Given the description of an element on the screen output the (x, y) to click on. 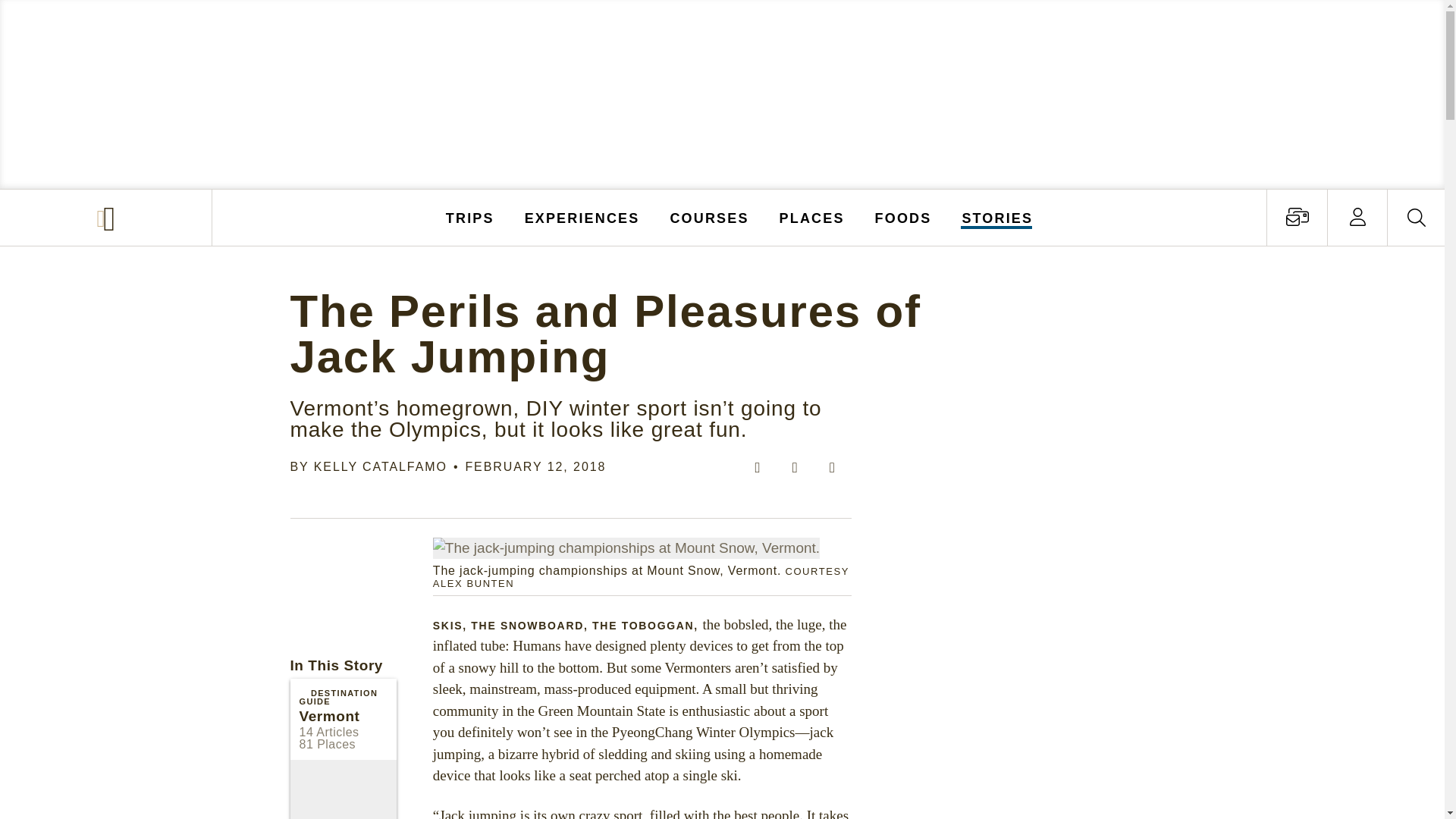
COURSES (707, 217)
TRIPS (469, 217)
EXPERIENCES (582, 217)
PLACES (812, 217)
